Given the description of an element on the screen output the (x, y) to click on. 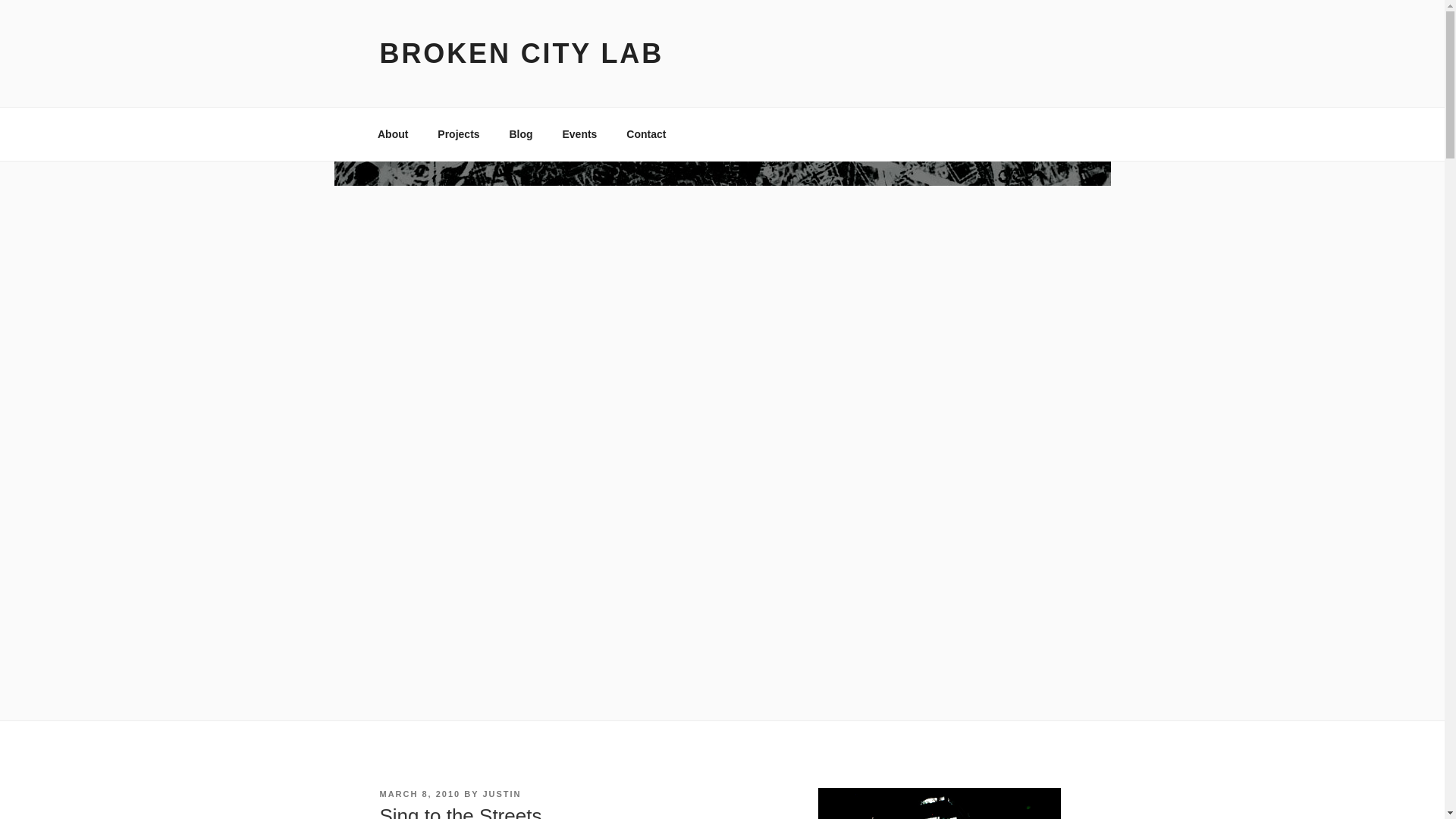
About (392, 133)
JUSTIN (501, 793)
Events (579, 133)
Blog (521, 133)
MARCH 8, 2010 (419, 793)
Contact (645, 133)
BROKEN CITY LAB (520, 52)
Projects (459, 133)
